Given the description of an element on the screen output the (x, y) to click on. 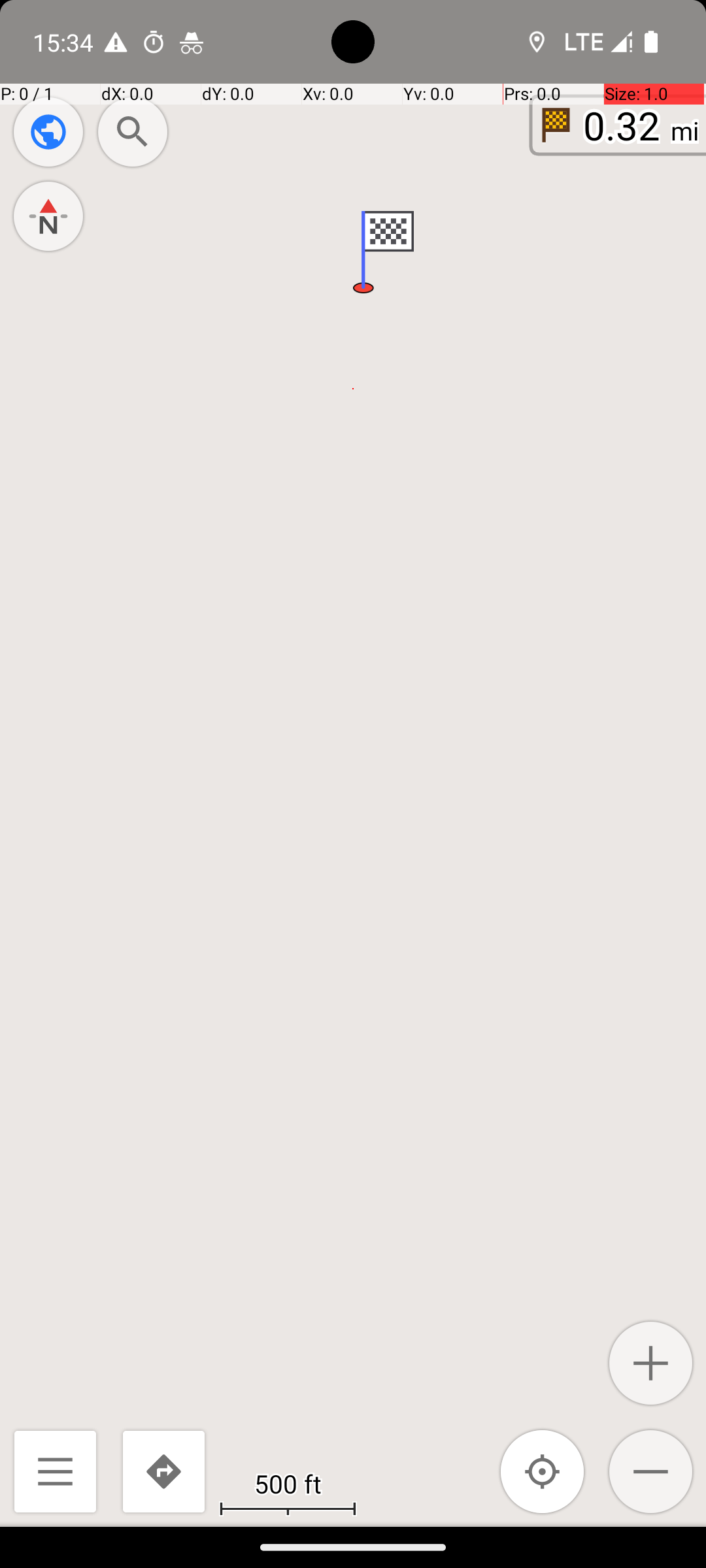
500 ft Element type: android.widget.TextView (287, 1483)
Distance to destination 0.32 mi Element type: android.widget.LinearLayout (619, 125)
0.32 Element type: android.widget.TextView (621, 124)
mi Element type: android.widget.TextView (684, 130)
